Given the description of an element on the screen output the (x, y) to click on. 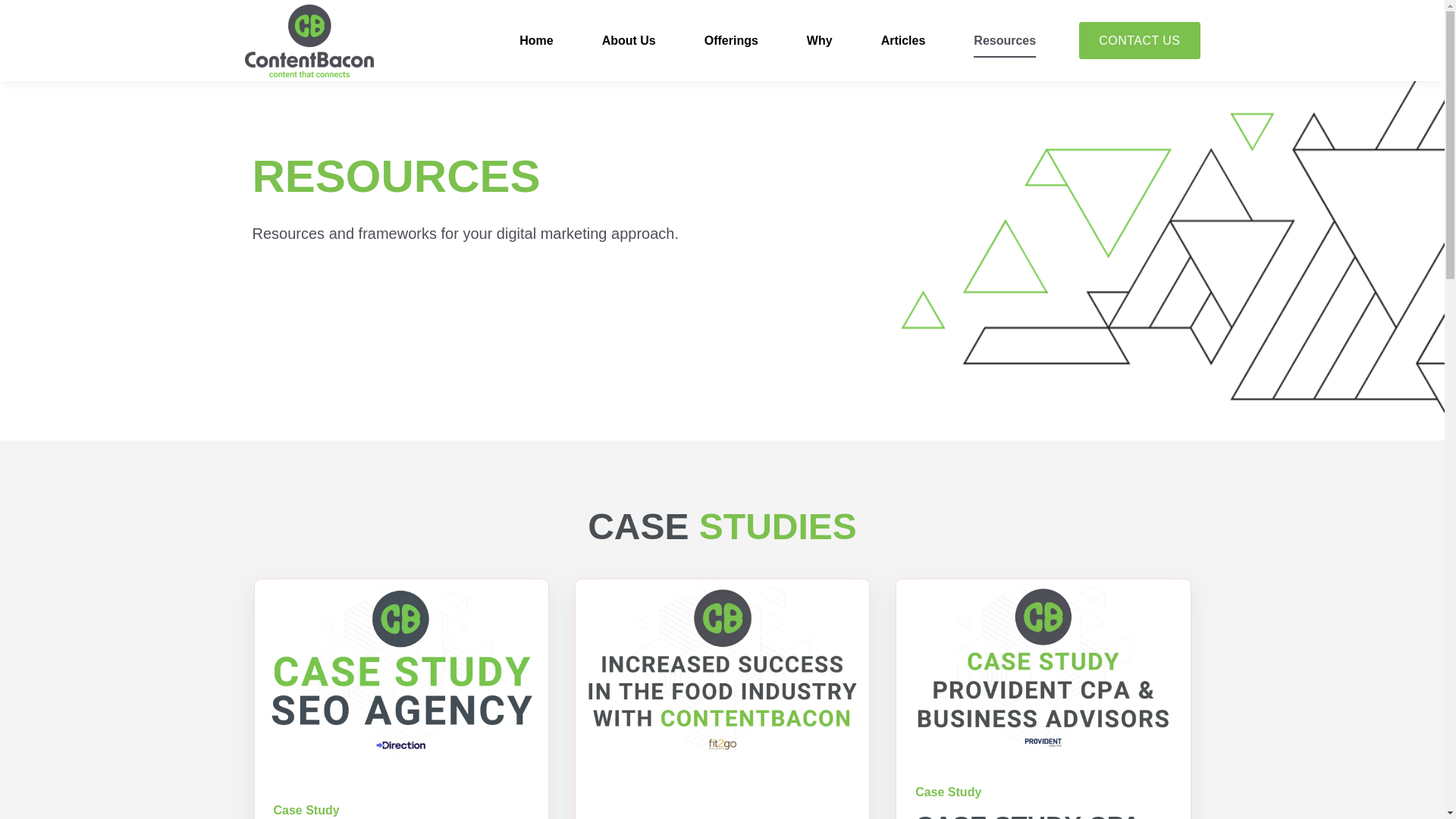
Articles (903, 40)
About Us (629, 40)
Offerings (731, 40)
Home (536, 40)
Resources (1004, 40)
CONTACT US (1138, 40)
